Given the description of an element on the screen output the (x, y) to click on. 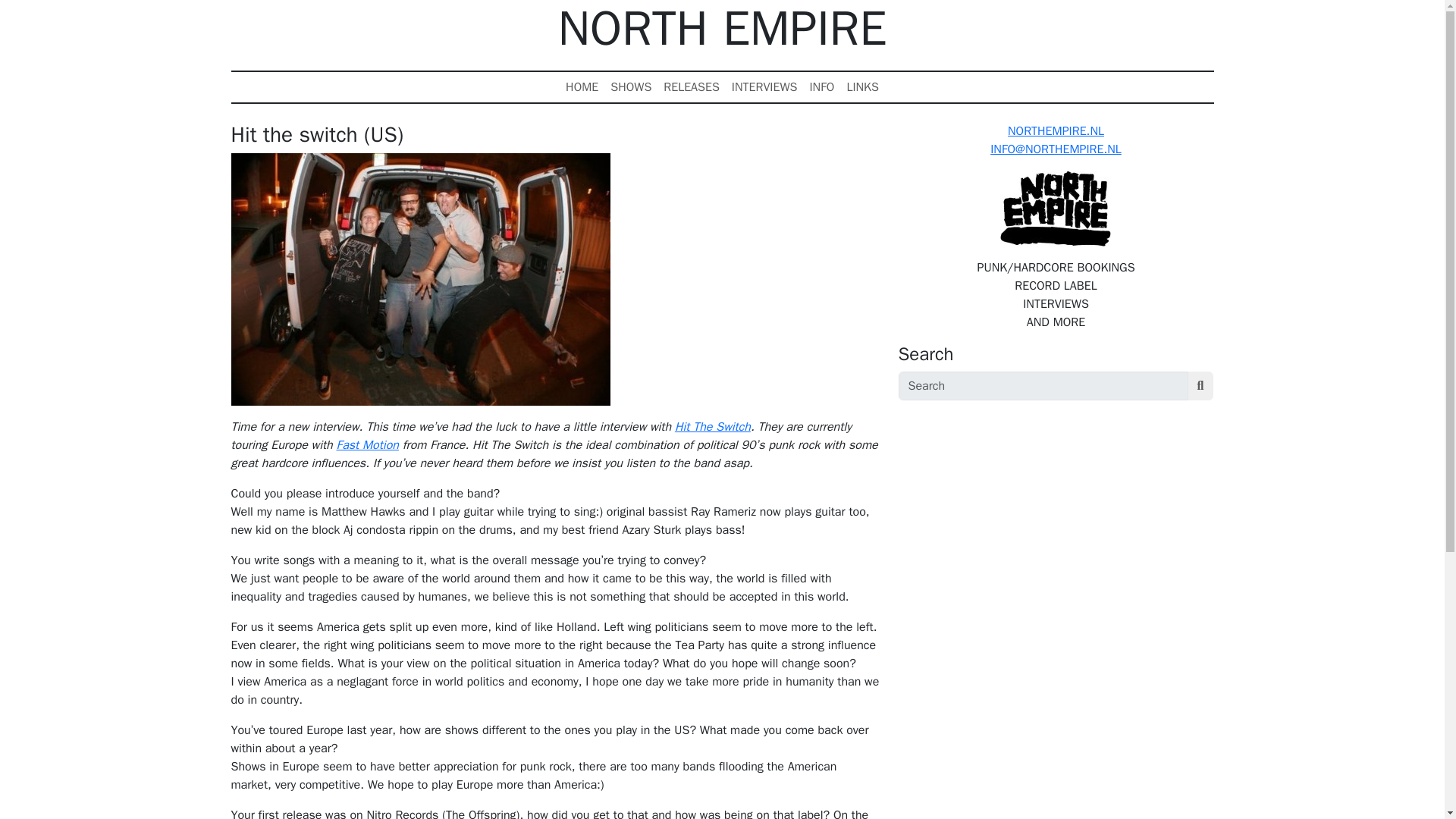
NORTHEMPIRE.NL (1055, 130)
INTERVIEWS (764, 87)
INFO (821, 87)
HOME (581, 87)
Hit The Switch (713, 426)
RELEASES (691, 87)
Fast Motion (366, 444)
Search (1201, 385)
SHOWS (631, 87)
NORTH EMPIRE (721, 29)
LINKS (862, 87)
